Given the description of an element on the screen output the (x, y) to click on. 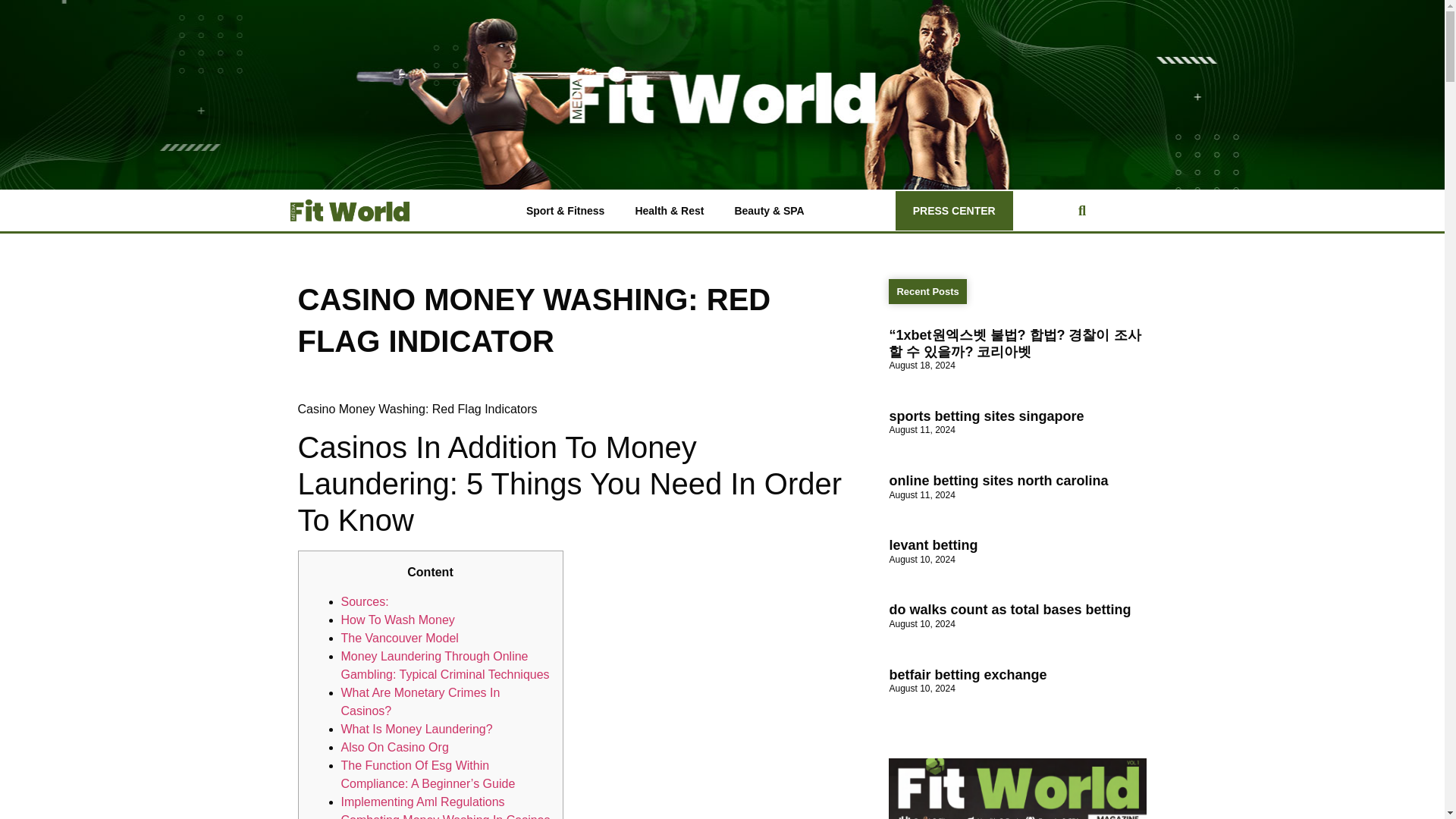
What Are Monetary Crimes In Casinos? (420, 701)
How To Wash Money (397, 619)
PRESS CENTER (954, 210)
What Is Money Laundering? (416, 728)
Also On Casino Org (394, 747)
Sources: (364, 601)
The Vancouver Model (399, 637)
